Given the description of an element on the screen output the (x, y) to click on. 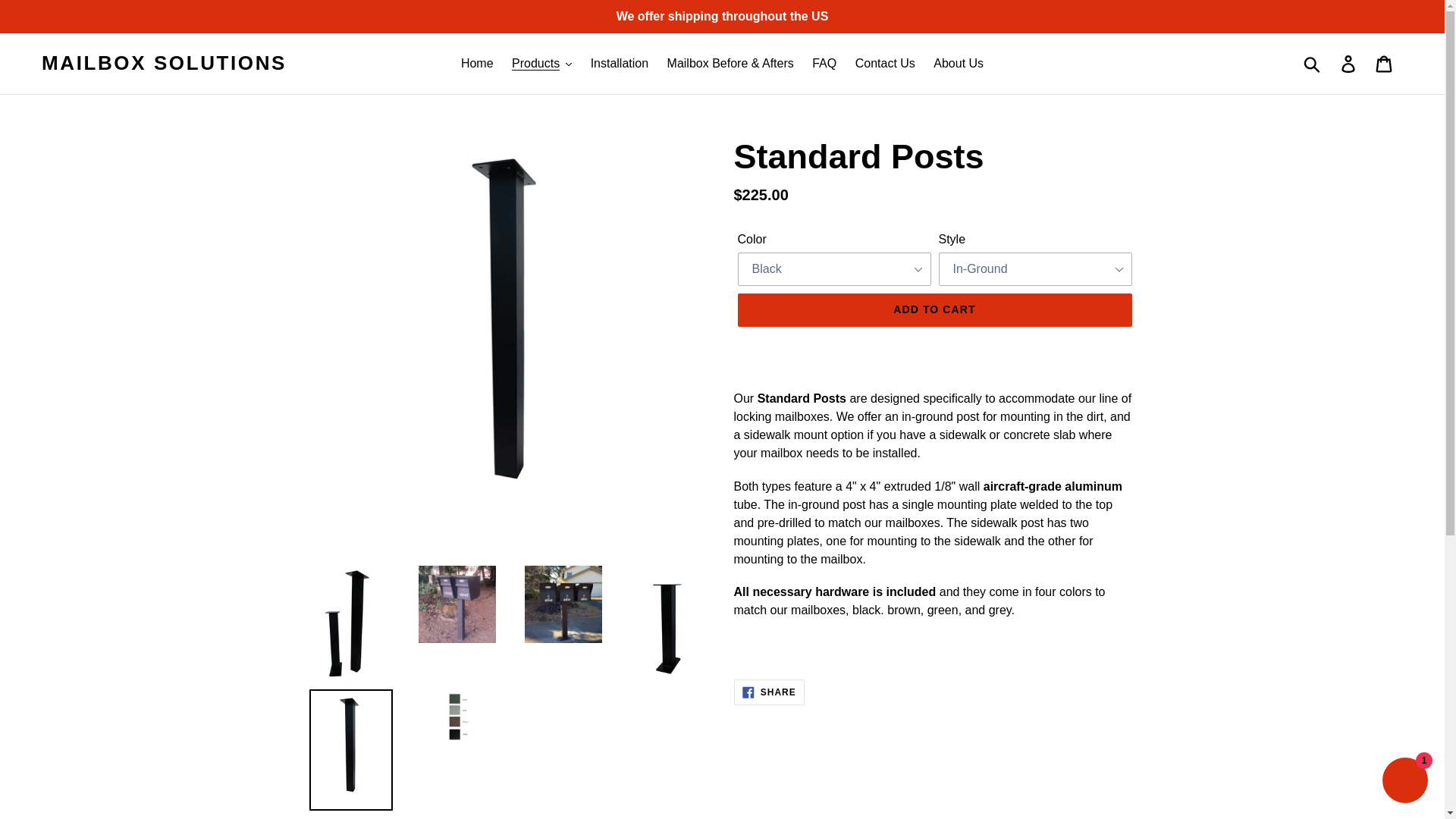
Contact Us (885, 63)
Cart (1385, 63)
MAILBOX SOLUTIONS (164, 63)
Installation (619, 63)
FAQ (824, 63)
About Us (958, 63)
Log in (1349, 63)
Shopify online store chat (1404, 781)
Home (476, 63)
Submit (1313, 63)
